Given the description of an element on the screen output the (x, y) to click on. 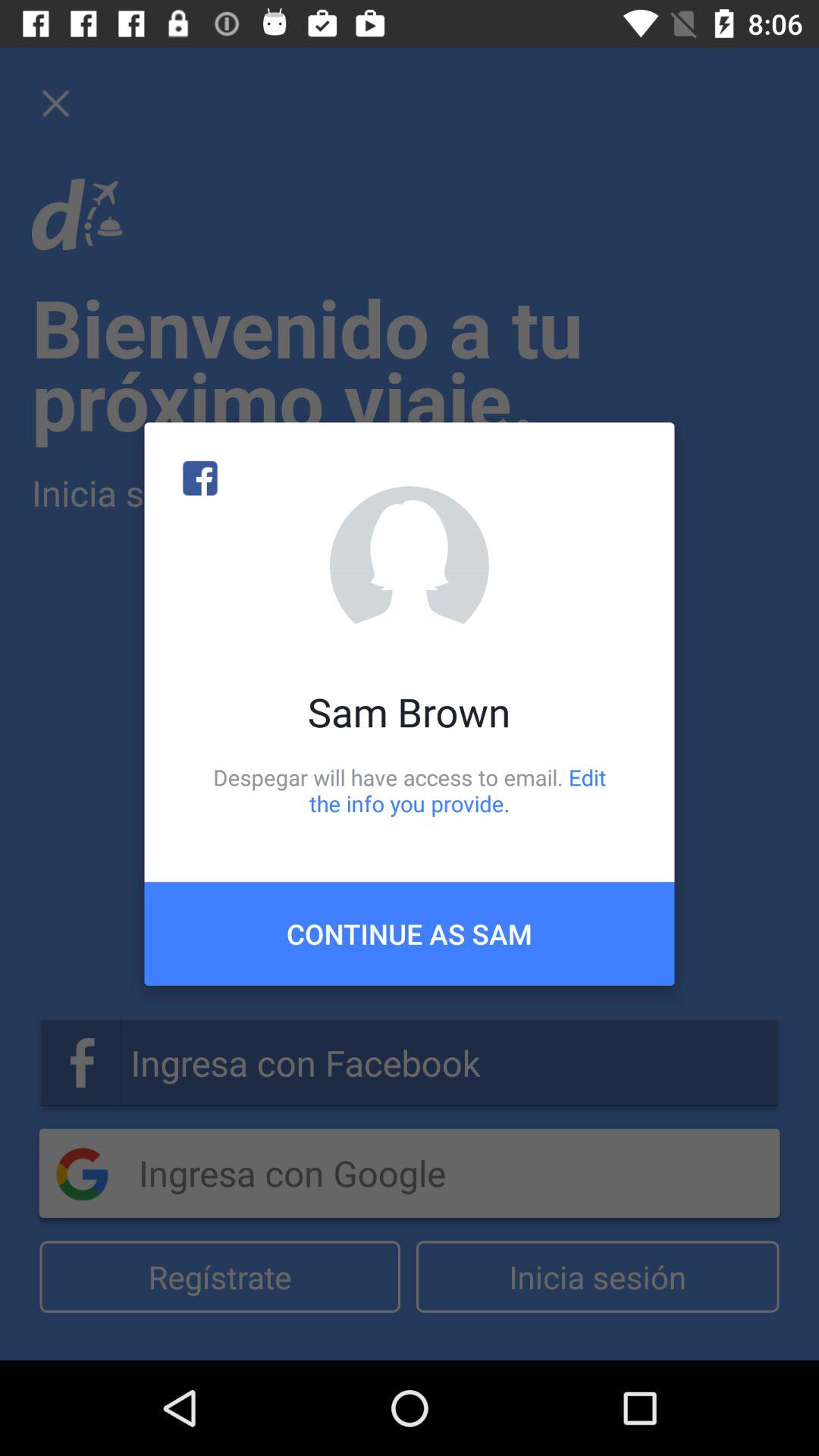
scroll until the despegar will have icon (409, 790)
